Given the description of an element on the screen output the (x, y) to click on. 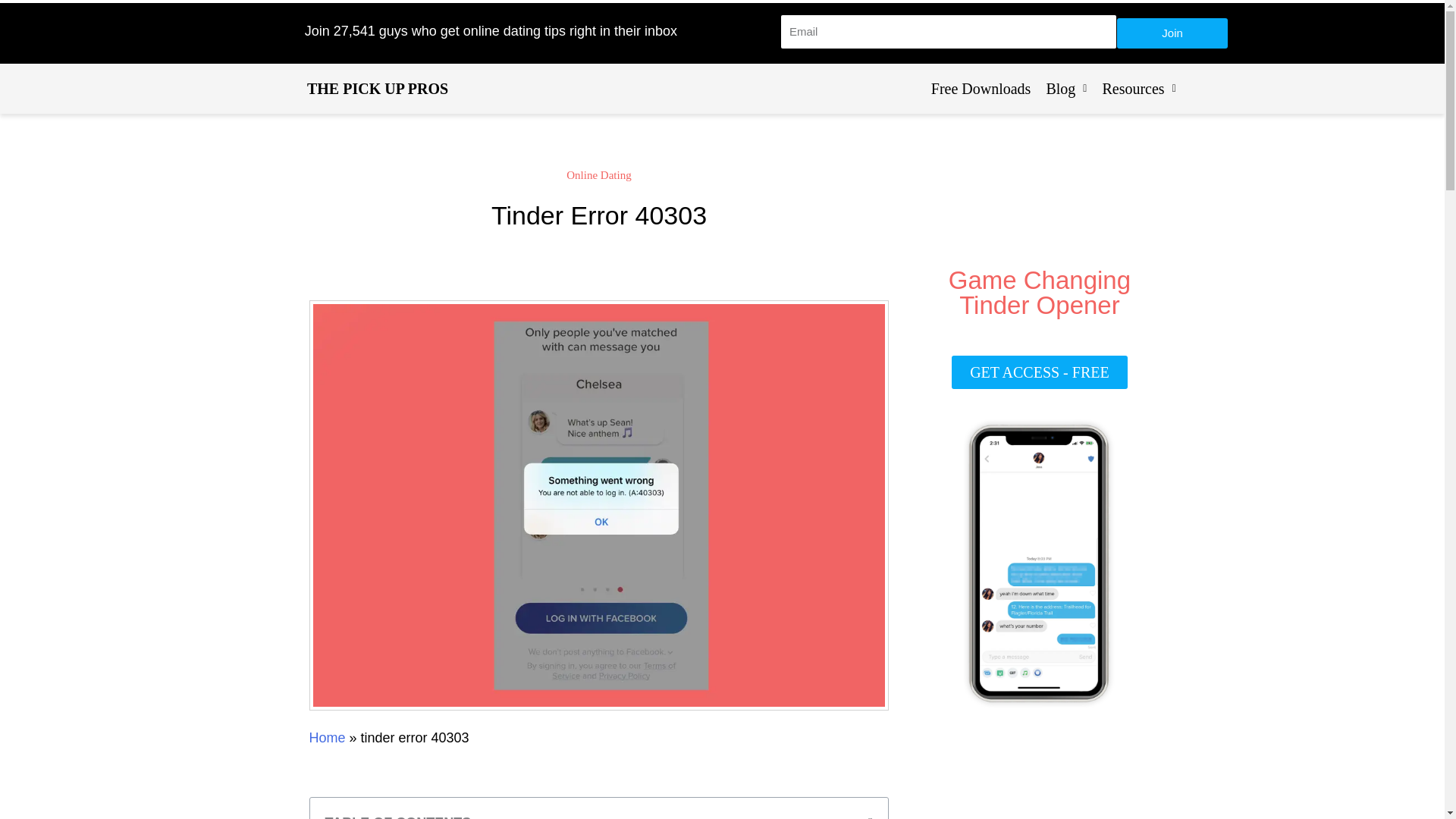
Blog (1066, 88)
Free Downloads (981, 88)
Join (1172, 33)
Resources (1138, 88)
THE PICK UP PROS (377, 88)
